Given the description of an element on the screen output the (x, y) to click on. 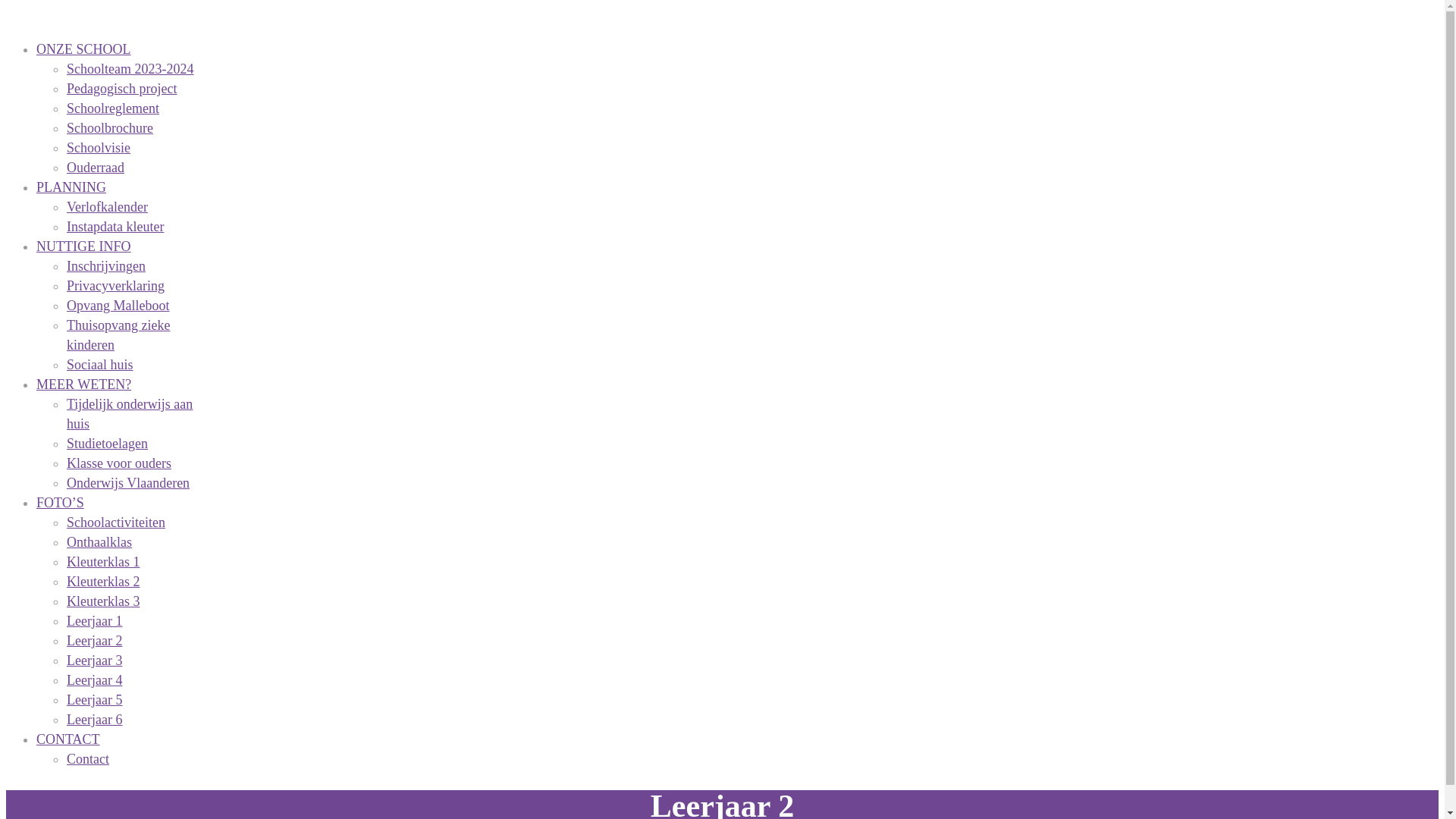
Klasse voor ouders Element type: text (118, 462)
Kleuterklas 3 Element type: text (102, 600)
Schoolactiviteiten Element type: text (115, 522)
Kleuterklas 1 Element type: text (102, 561)
Sociaal huis Element type: text (99, 364)
Schoolteam 2023-2024 Element type: text (129, 68)
Leerjaar 3 Element type: text (94, 660)
Leerjaar 6 Element type: text (94, 719)
Schoolbrochure Element type: text (109, 127)
Leerjaar 2 Element type: text (94, 640)
Studietoelagen Element type: text (106, 443)
Pedagogisch project Element type: text (121, 88)
Thuisopvang zieke kinderen Element type: text (117, 334)
NUTTIGE INFO Element type: text (83, 246)
PLANNING Element type: text (71, 186)
Leerjaar 1 Element type: text (94, 620)
Onthaalklas Element type: text (98, 541)
Schoolreglement Element type: text (112, 108)
Contact Element type: text (87, 758)
Leerjaar 4 Element type: text (94, 679)
Opvang Malleboot Element type: text (117, 305)
MEER WETEN? Element type: text (83, 384)
Leerjaar 5 Element type: text (94, 699)
Kleuterklas 2 Element type: text (102, 581)
CONTACT Element type: text (68, 738)
Instapdata kleuter Element type: text (114, 226)
Inschrijvingen Element type: text (105, 265)
Ouderraad Element type: text (95, 167)
Onderwijs Vlaanderen Element type: text (127, 482)
Privacyverklaring Element type: text (115, 285)
ONZE SCHOOL Element type: text (83, 48)
Tijdelijk onderwijs aan huis Element type: text (129, 413)
Verlofkalender Element type: text (106, 206)
Schoolvisie Element type: text (98, 147)
